Given the description of an element on the screen output the (x, y) to click on. 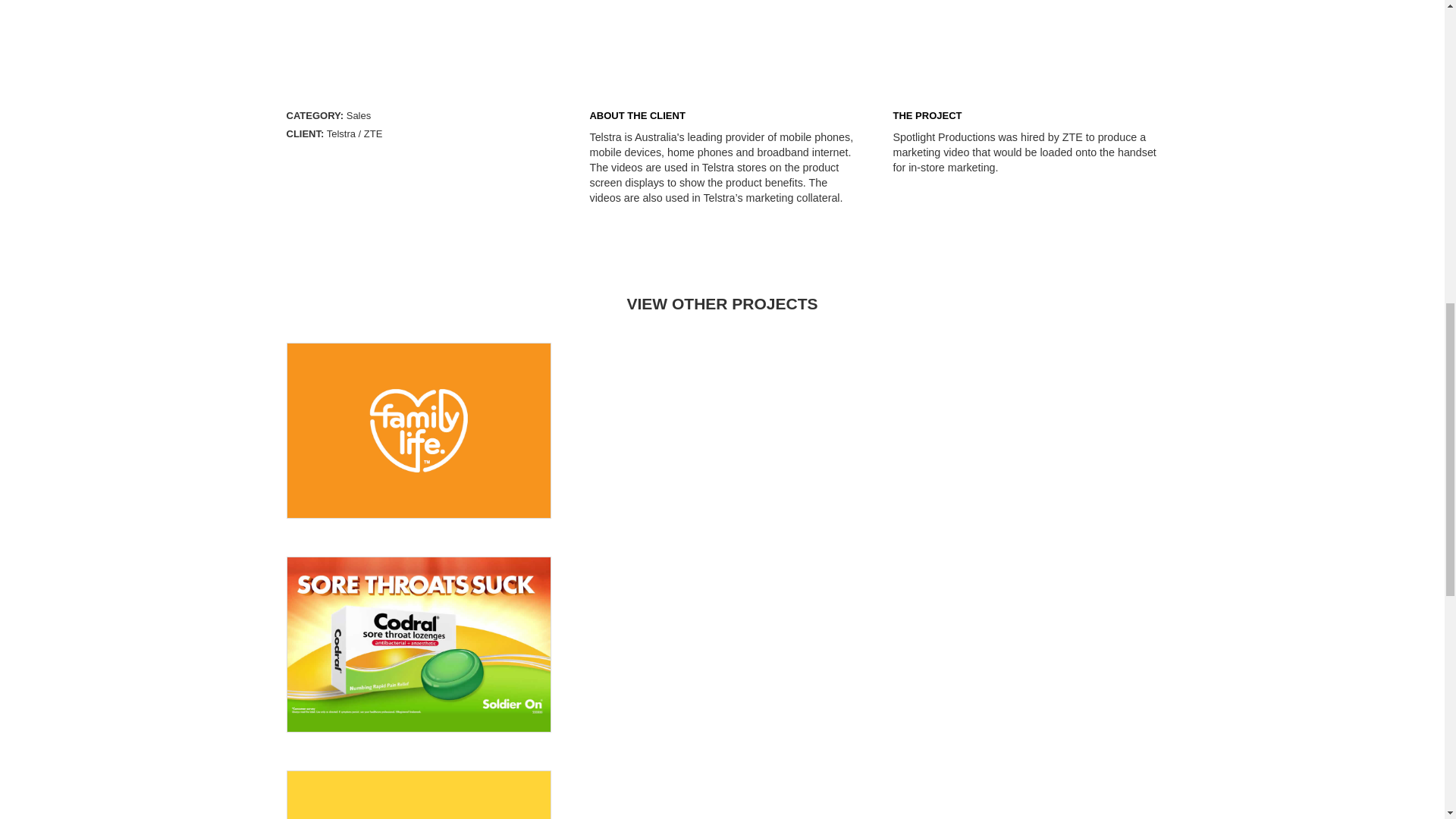
VIEW OTHER PROJECTS (721, 303)
